Given the description of an element on the screen output the (x, y) to click on. 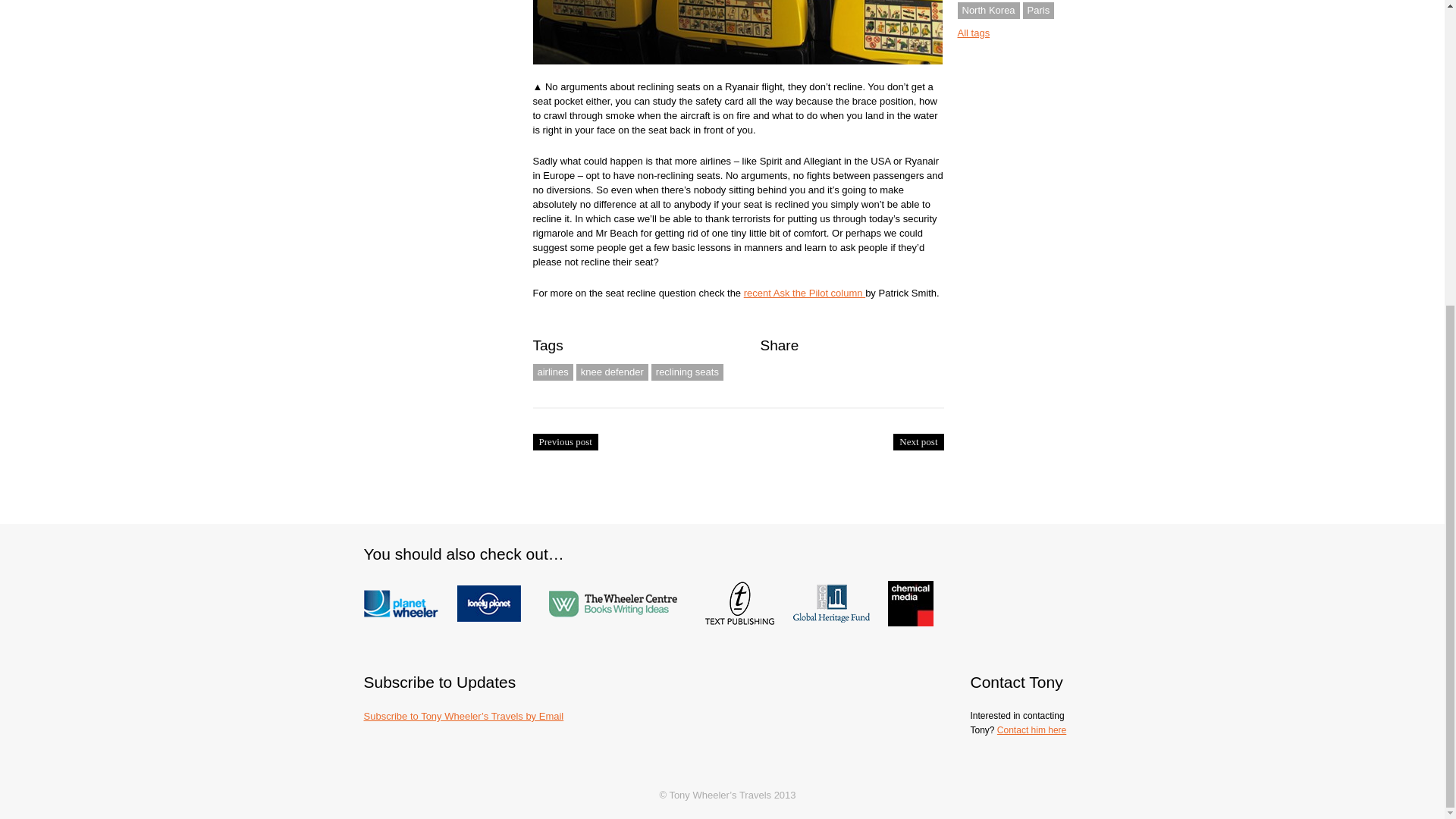
recent Ask the Pilot column (804, 292)
Text Publishing (747, 587)
Chemical Media (910, 587)
Lonely Planet (496, 587)
Contact him (1031, 729)
All Tags (973, 32)
Ask the Pilot (804, 292)
Planet Wheeler (409, 587)
airlines (552, 371)
knee defender (611, 371)
Global Heritage Fund (839, 587)
reclining seats (686, 371)
Next post (918, 442)
The Wheeler Centere (619, 587)
Previous post (564, 442)
